Given the description of an element on the screen output the (x, y) to click on. 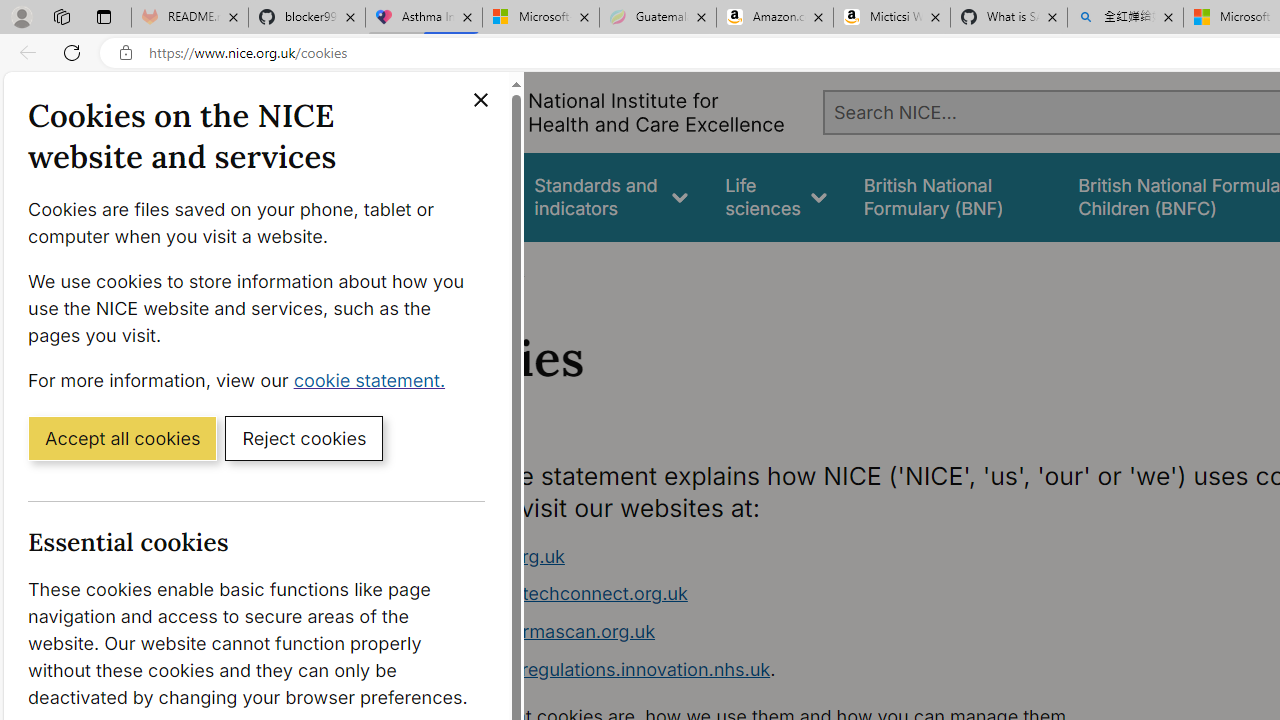
Close cookie banner (480, 99)
About (498, 268)
www.digitalregulations.innovation.nhs.uk (595, 668)
Reject cookies (304, 437)
false (952, 196)
